Given the description of an element on the screen output the (x, y) to click on. 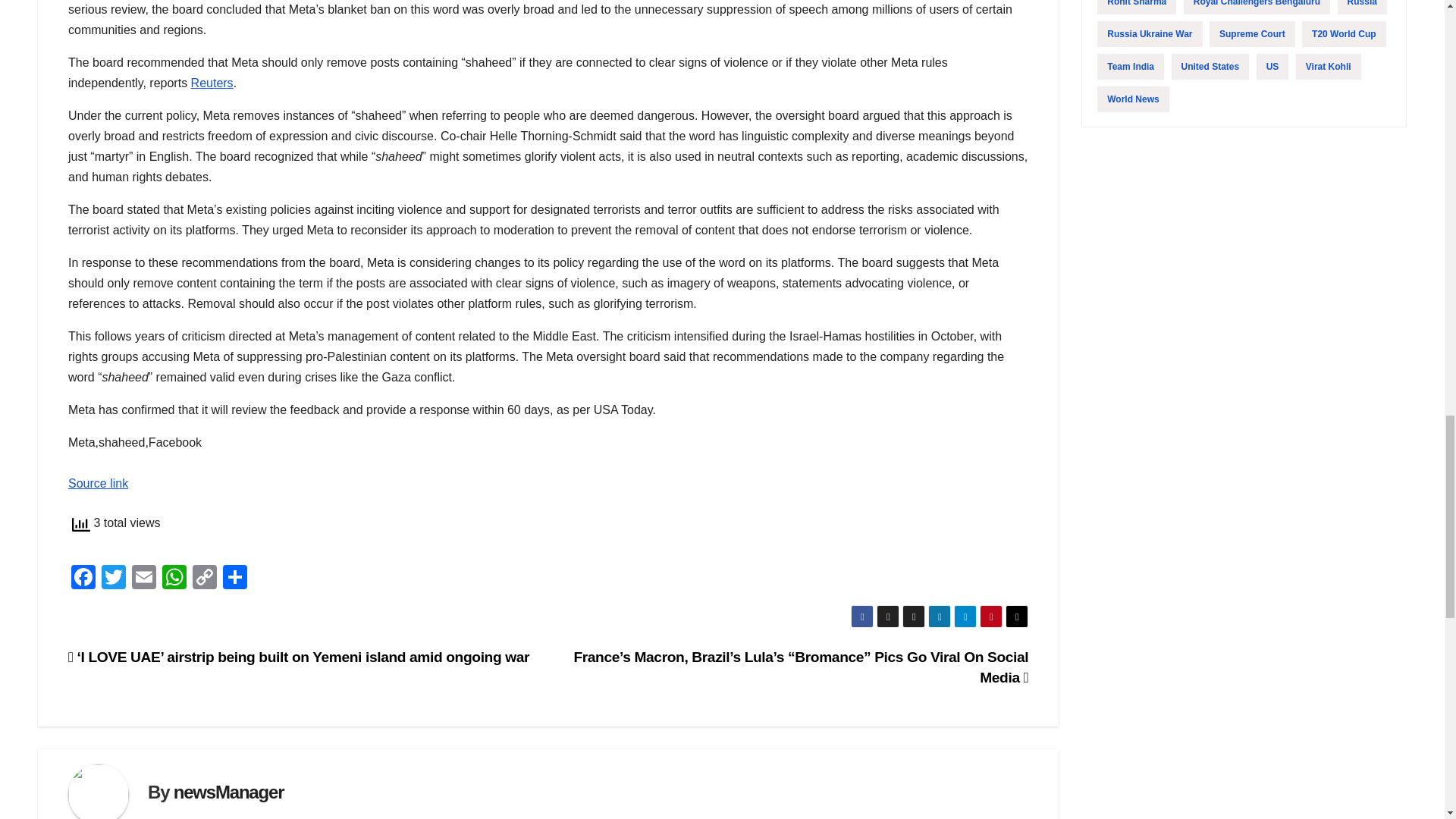
Copy Link (204, 578)
Facebook (83, 578)
Twitter (114, 578)
WhatsApp (173, 578)
Email (143, 578)
Reuters (211, 82)
Facebook (83, 578)
Email (143, 578)
Twitter (114, 578)
Share (234, 578)
